Given the description of an element on the screen output the (x, y) to click on. 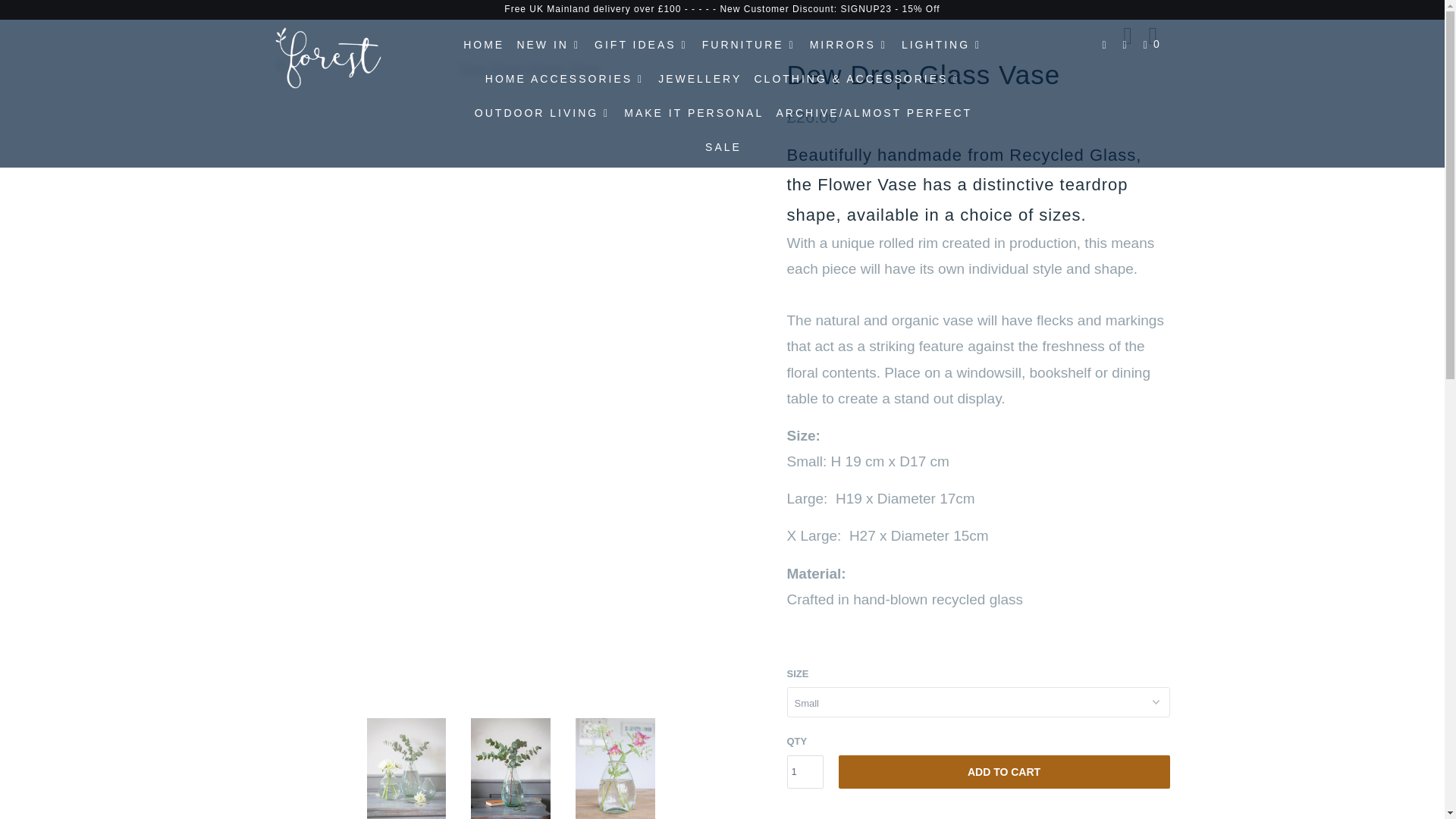
1 (805, 771)
Dew Drop Glass Vase (523, 69)
Dew Drop Glass Vase (137, 69)
